Given the description of an element on the screen output the (x, y) to click on. 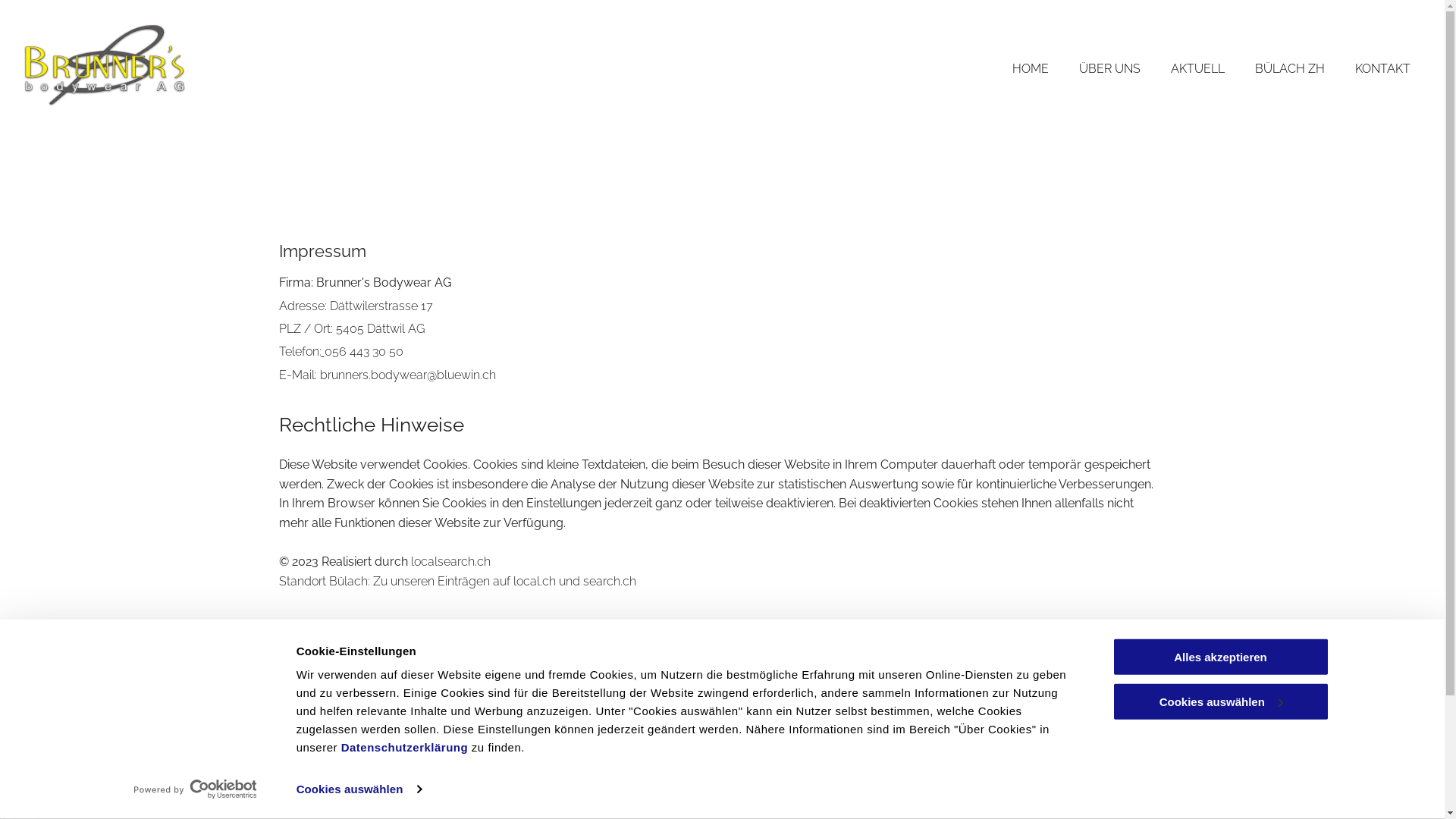
HOME Element type: text (1030, 69)
Impressum Element type: text (1397, 756)
AKTUELL Element type: text (1197, 69)
  Element type: text (322, 351)
KONTAKT Element type: text (1382, 69)
local.ch Element type: text (533, 581)
056 443 30 50 Element type: text (363, 351)
Alles akzeptieren Element type: text (1219, 656)
search.ch Element type: text (608, 581)
brunners.bodywear@bluewin.ch Element type: text (407, 374)
localsearch.ch Element type: text (450, 561)
